Given the description of an element on the screen output the (x, y) to click on. 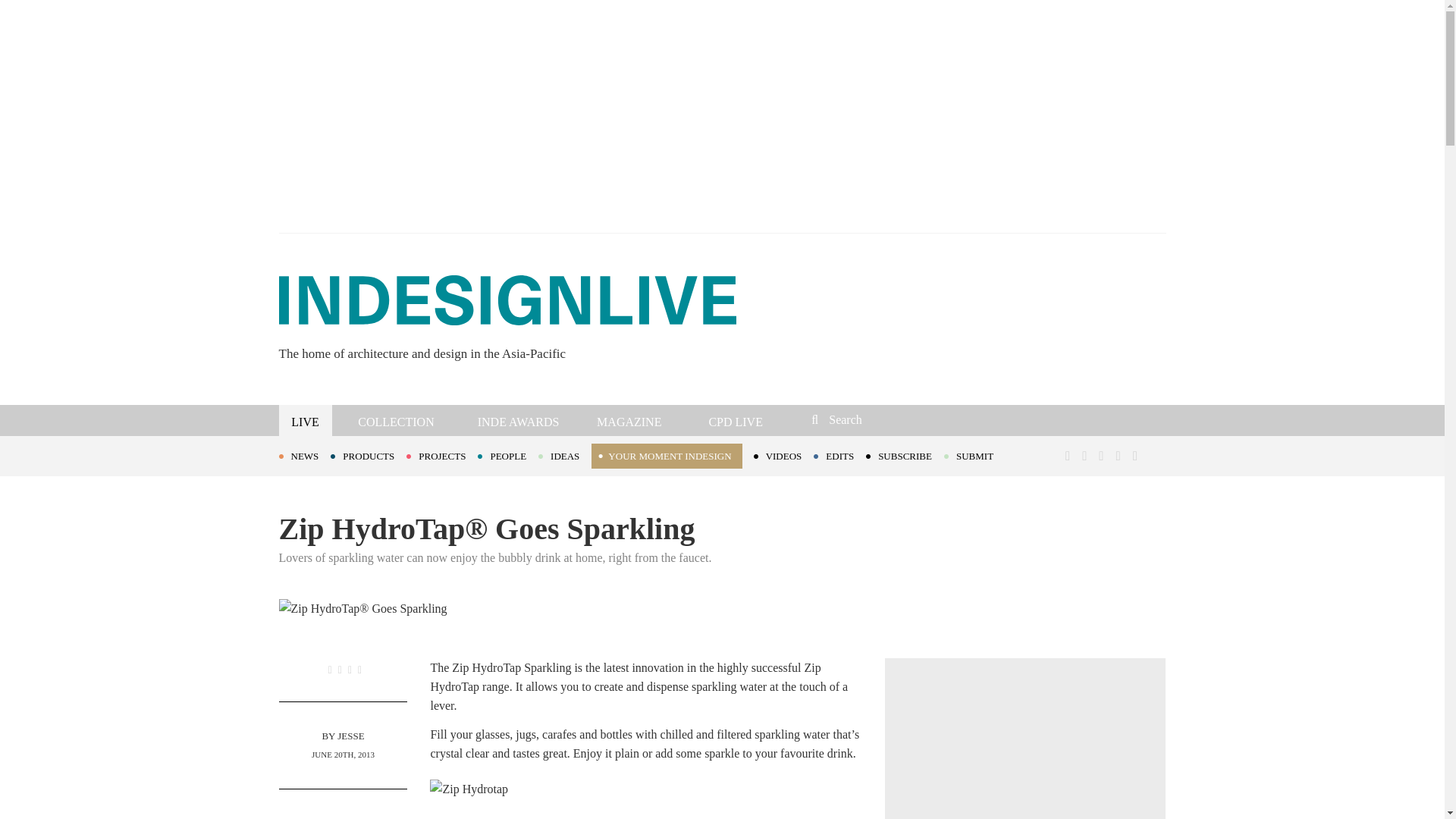
VIDEOS (783, 455)
PRODUCTS (368, 455)
Search (913, 418)
EDITS (839, 455)
SUBSCRIBE (904, 455)
SUBMIT (974, 455)
PEOPLE (507, 455)
YOUR MOMENT INDESIGN (666, 455)
IDEAS (564, 455)
